Given the description of an element on the screen output the (x, y) to click on. 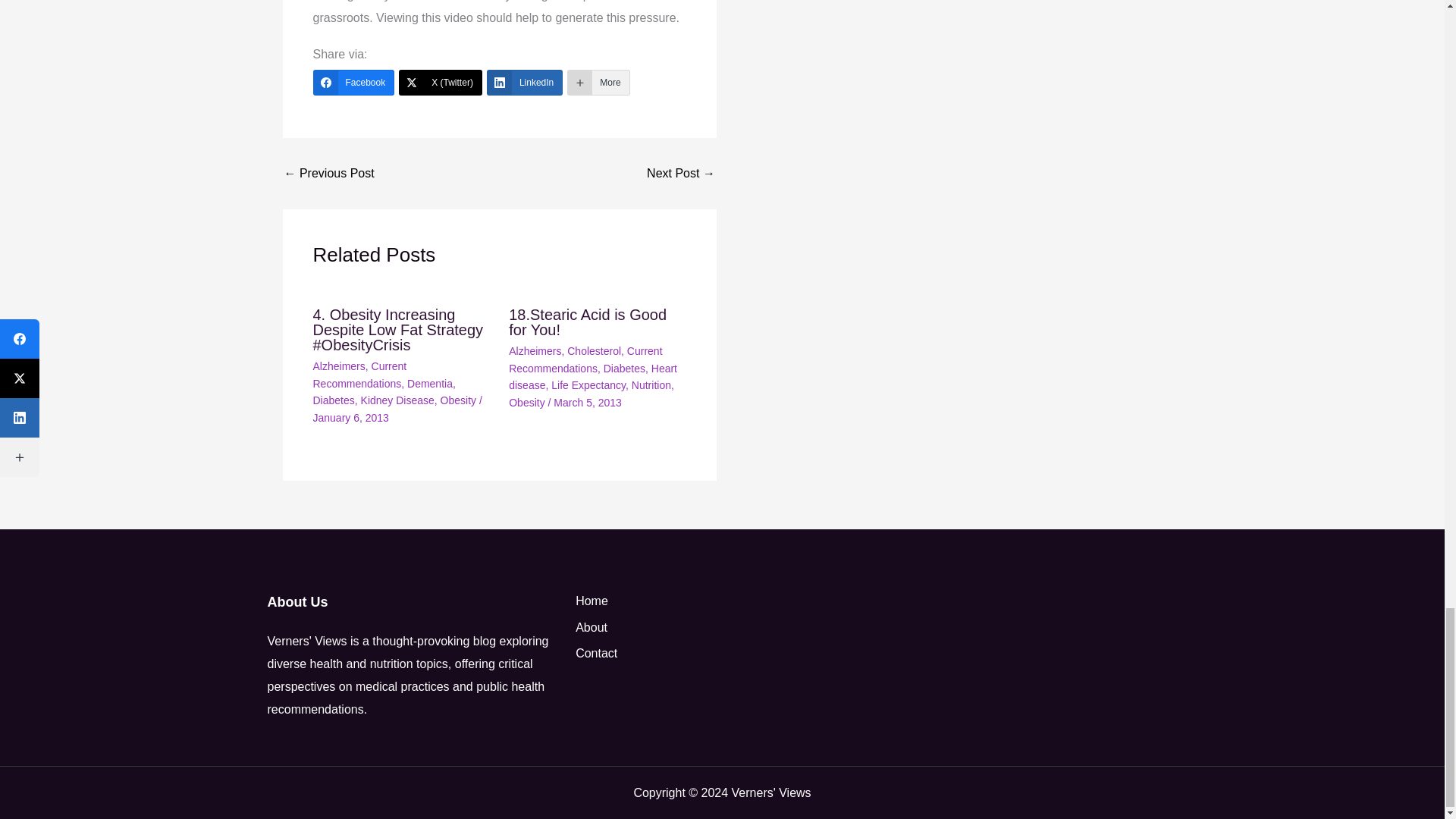
Current Recommendations (359, 374)
Facebook (353, 82)
Kidney Disease (397, 399)
Heart disease (592, 376)
Current Recommendations (585, 358)
151. Praluent: New Cholesterol Drugs Get Riskier By The Day (328, 173)
Alzheimers (339, 366)
Cholesterol (594, 350)
LinkedIn (524, 82)
Nutrition (651, 385)
Dementia (429, 383)
Alzheimers (534, 350)
Obesity (458, 399)
More (597, 82)
